Given the description of an element on the screen output the (x, y) to click on. 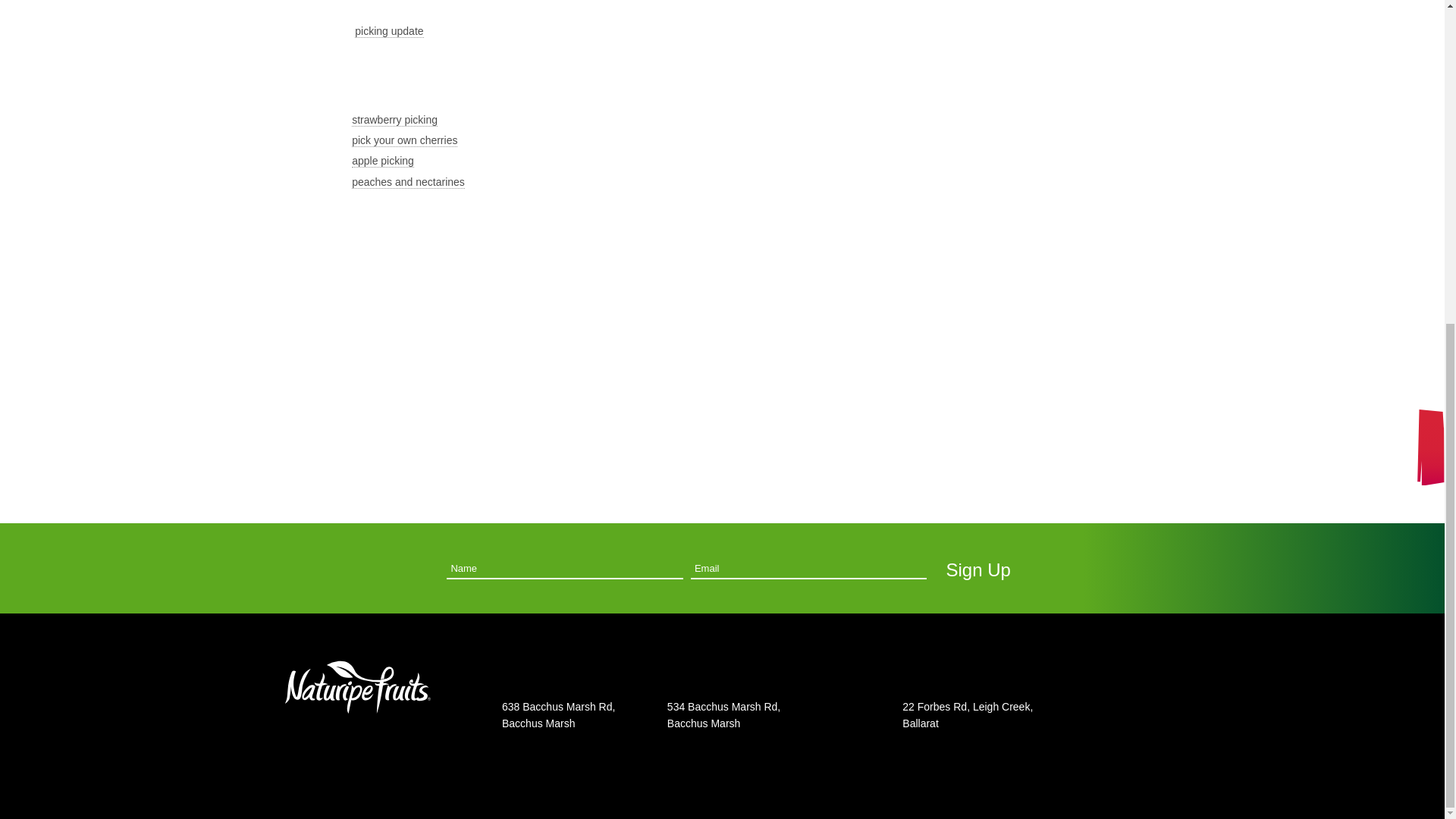
picking update (389, 31)
strawberry picking (395, 119)
apple picking (382, 160)
peaches and nectarines (408, 182)
Sign Up (978, 570)
pick your own cherries (404, 140)
Sign Up (978, 570)
